Given the description of an element on the screen output the (x, y) to click on. 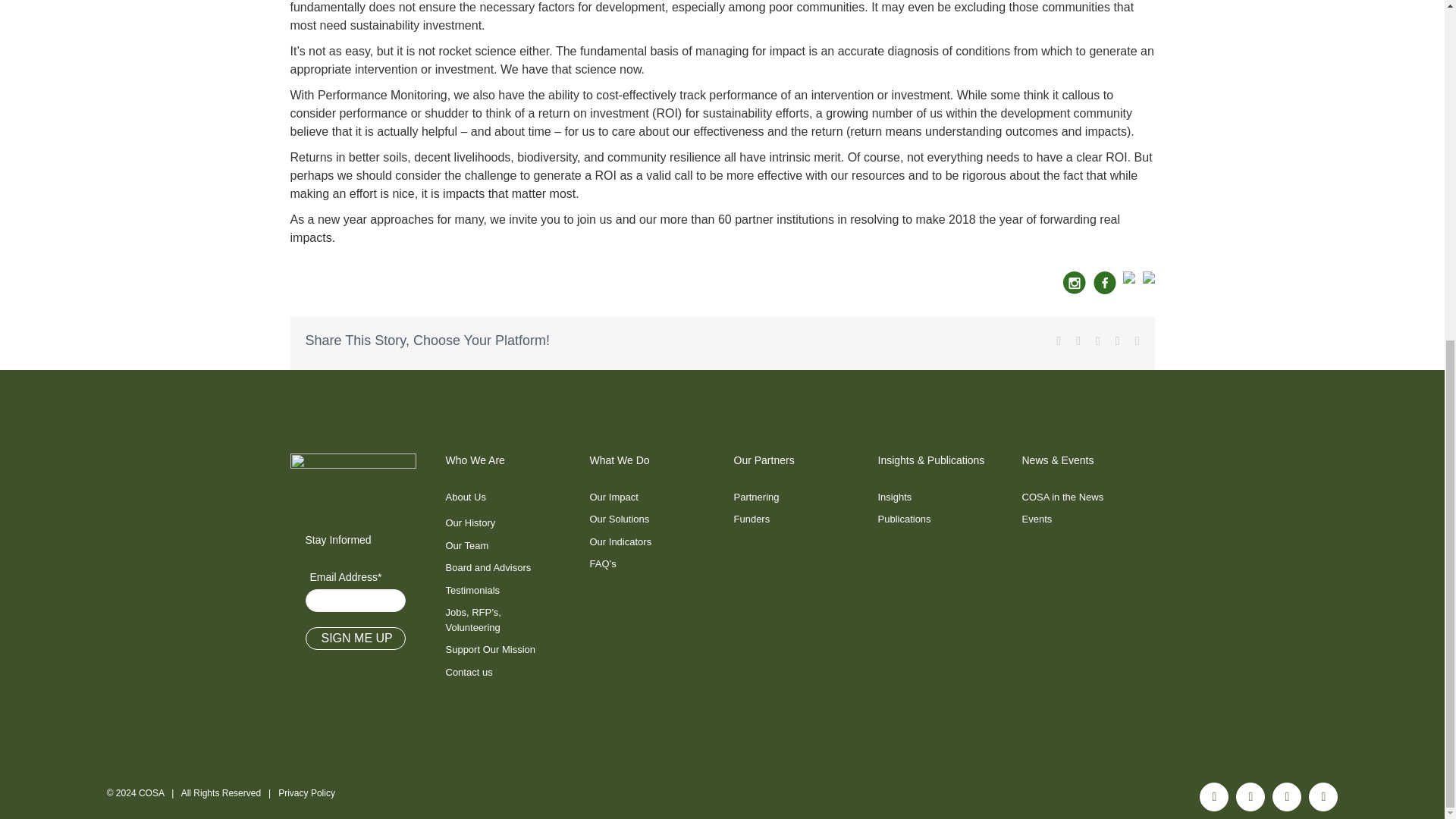
Tweet this! (1147, 279)
Email (1323, 796)
Share on LinkedIn (1128, 279)
SIGN ME UP (354, 638)
Share on Facebook. (1104, 279)
Twitter (1213, 796)
LinkedIn (1286, 796)
Facebook (1250, 796)
